Given the description of an element on the screen output the (x, y) to click on. 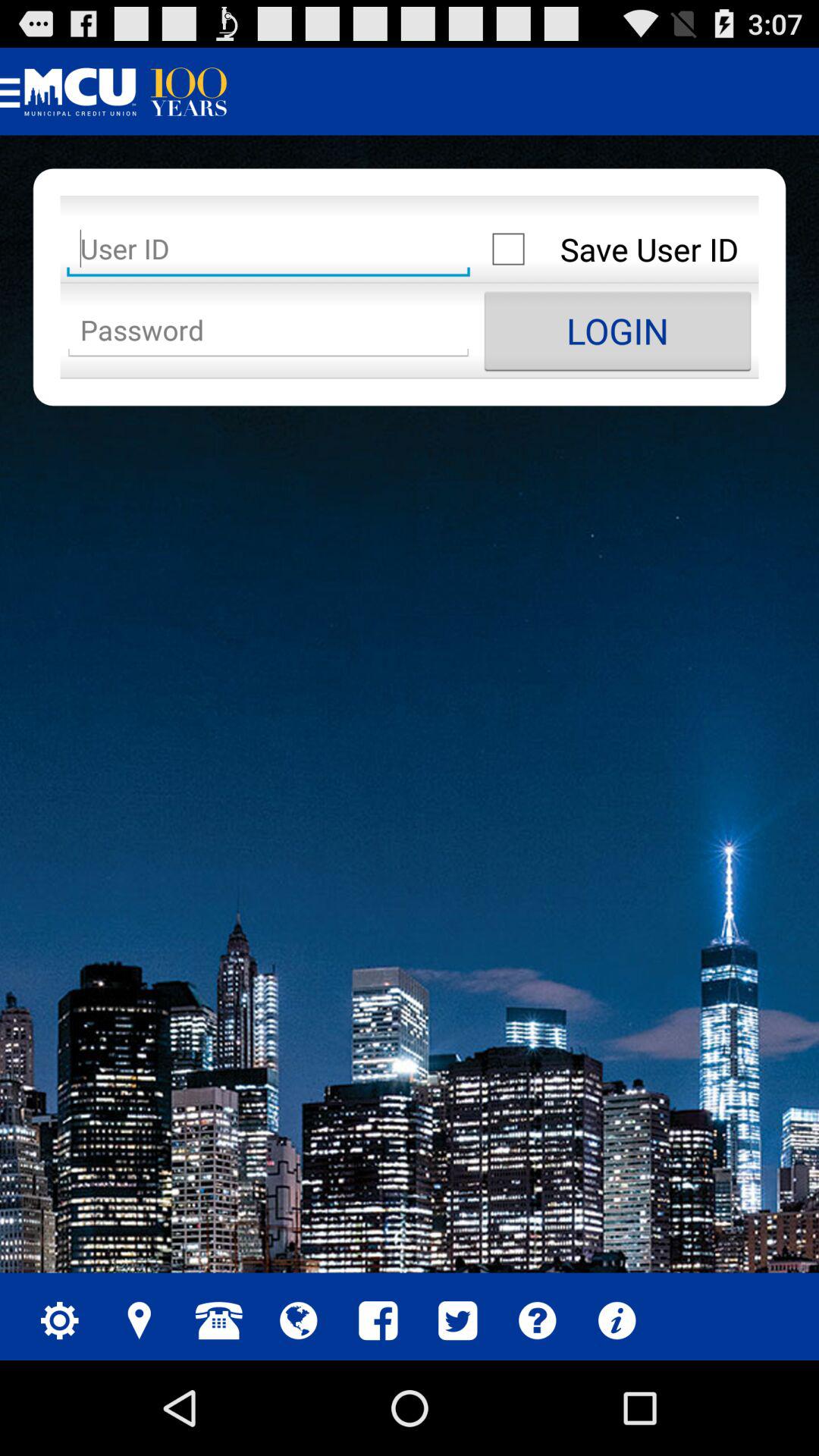
open item above the login (617, 248)
